Given the description of an element on the screen output the (x, y) to click on. 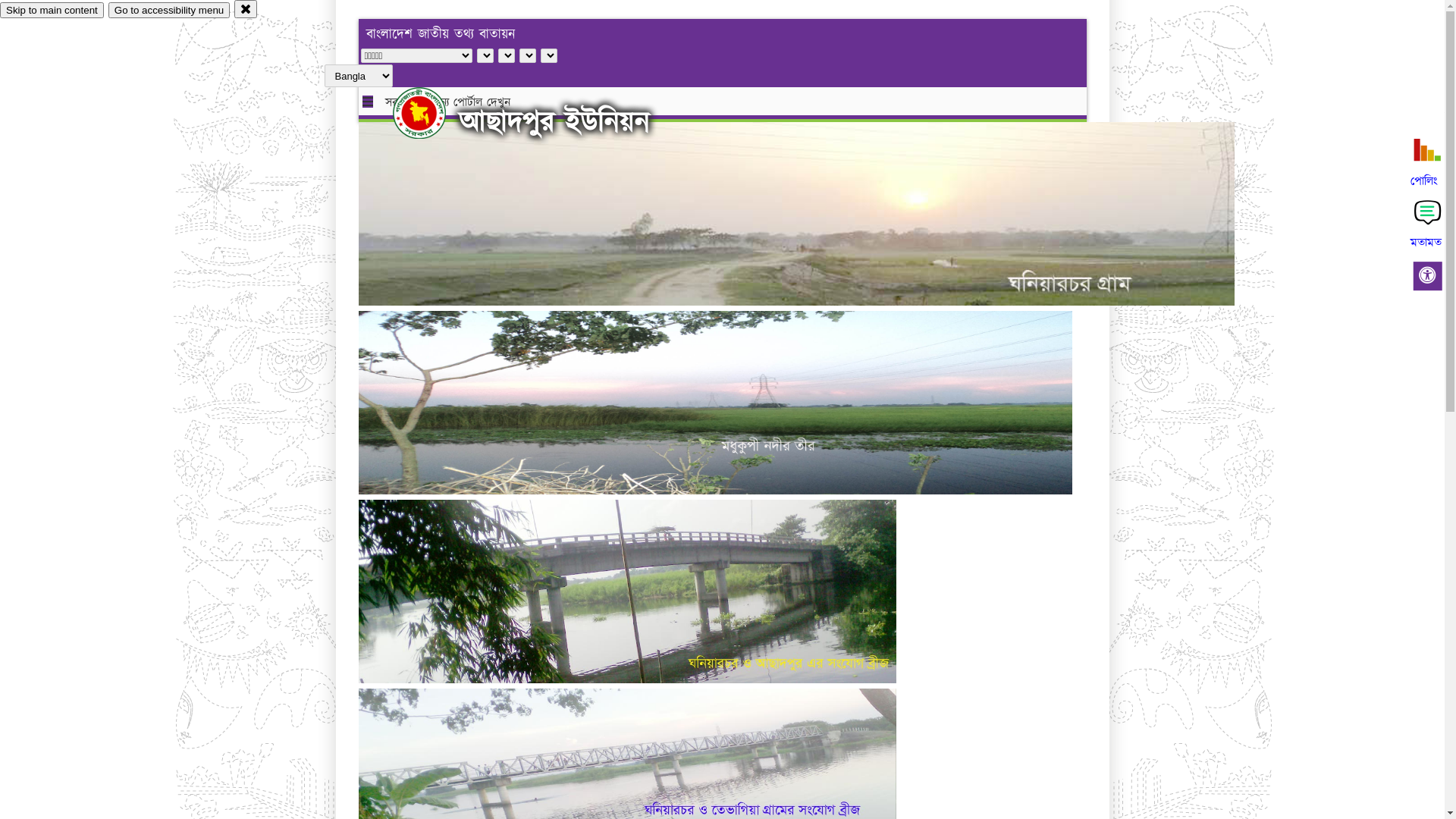
Skip to main content Element type: text (51, 10)
close Element type: hover (245, 9)

                
             Element type: hover (431, 112)
Go to accessibility menu Element type: text (168, 10)
